Given the description of an element on the screen output the (x, y) to click on. 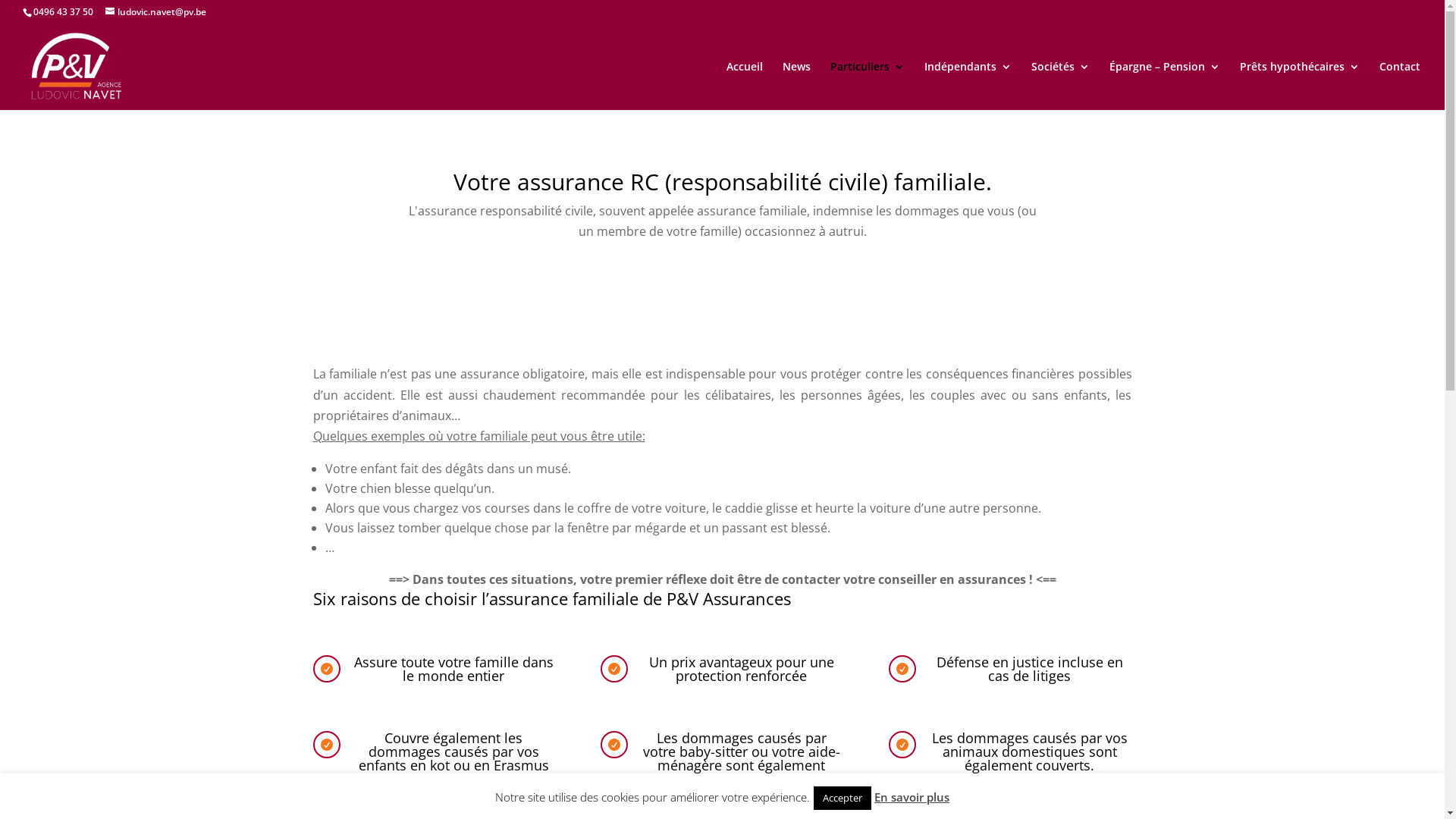
En savoir plus Element type: text (911, 796)
Accepter Element type: text (842, 797)
ludovic.navet@pv.be Element type: text (155, 11)
Accueil Element type: text (744, 85)
Particuliers Element type: text (867, 85)
Contact Element type: text (1399, 85)
News Element type: text (796, 85)
